Given the description of an element on the screen output the (x, y) to click on. 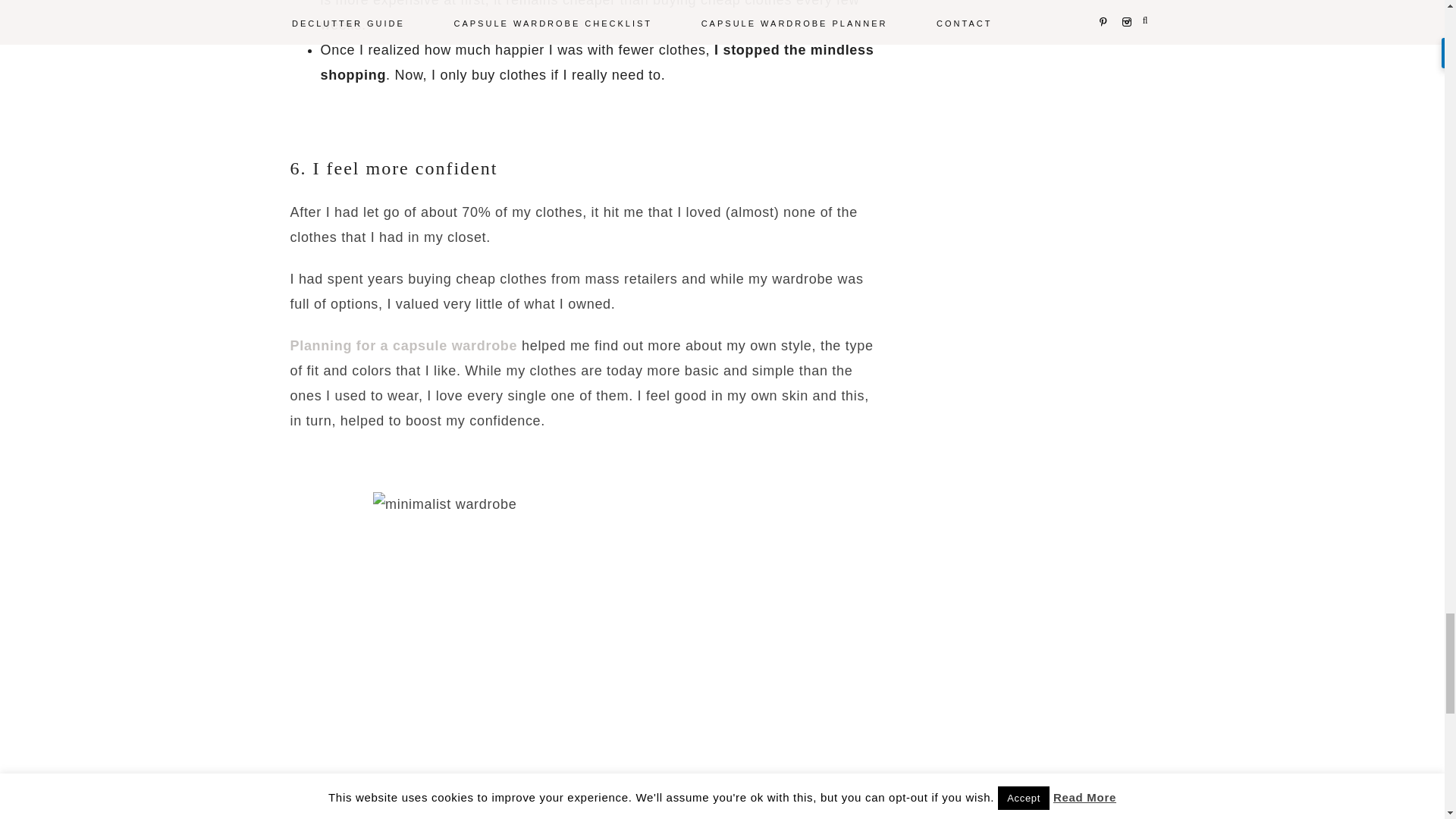
Planning for a capsule wardrobe (402, 345)
7 ways a minimalist wardrobe changed my life (581, 631)
